Given the description of an element on the screen output the (x, y) to click on. 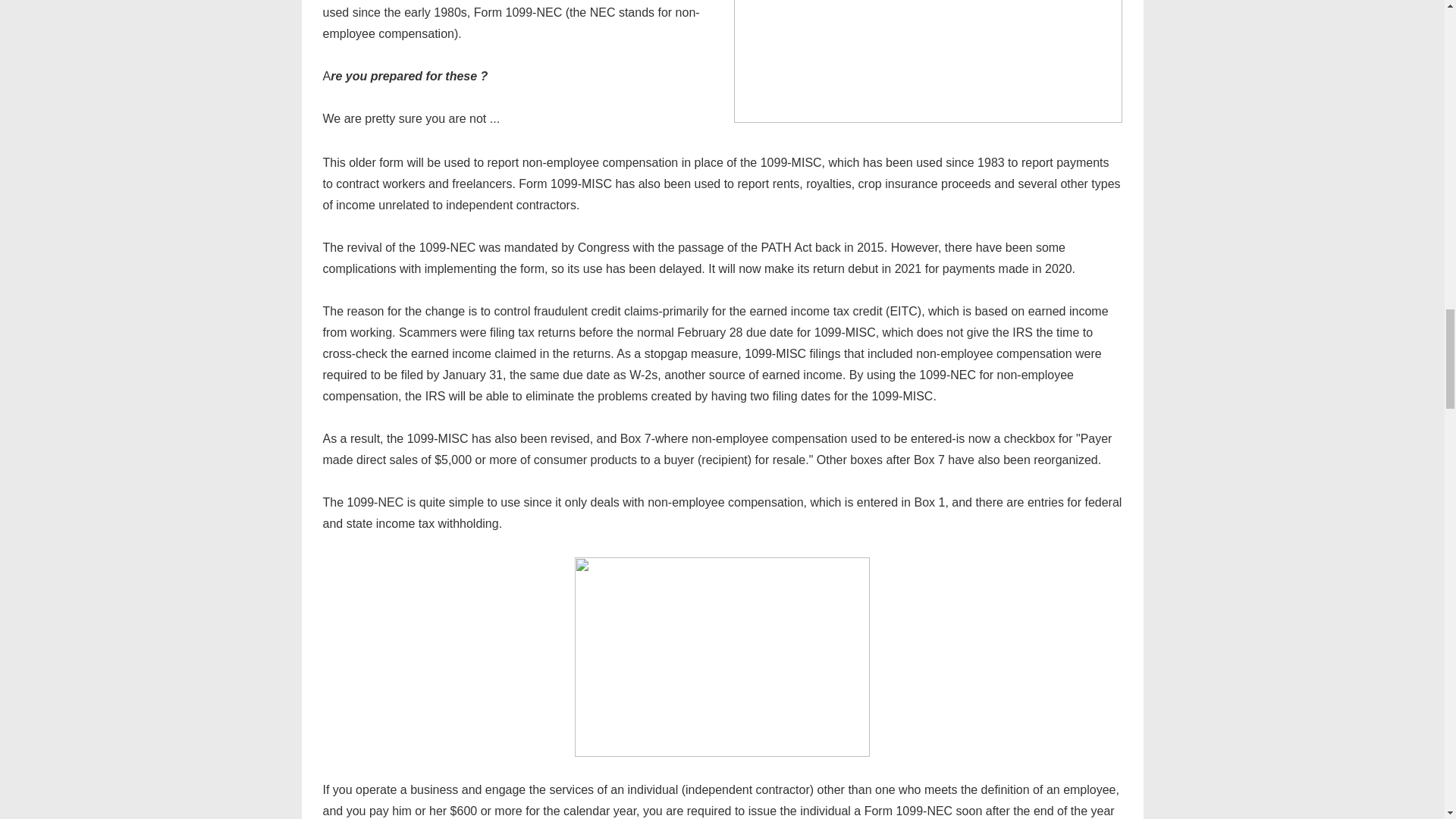
form1099 (927, 61)
form7171 (722, 656)
